Given the description of an element on the screen output the (x, y) to click on. 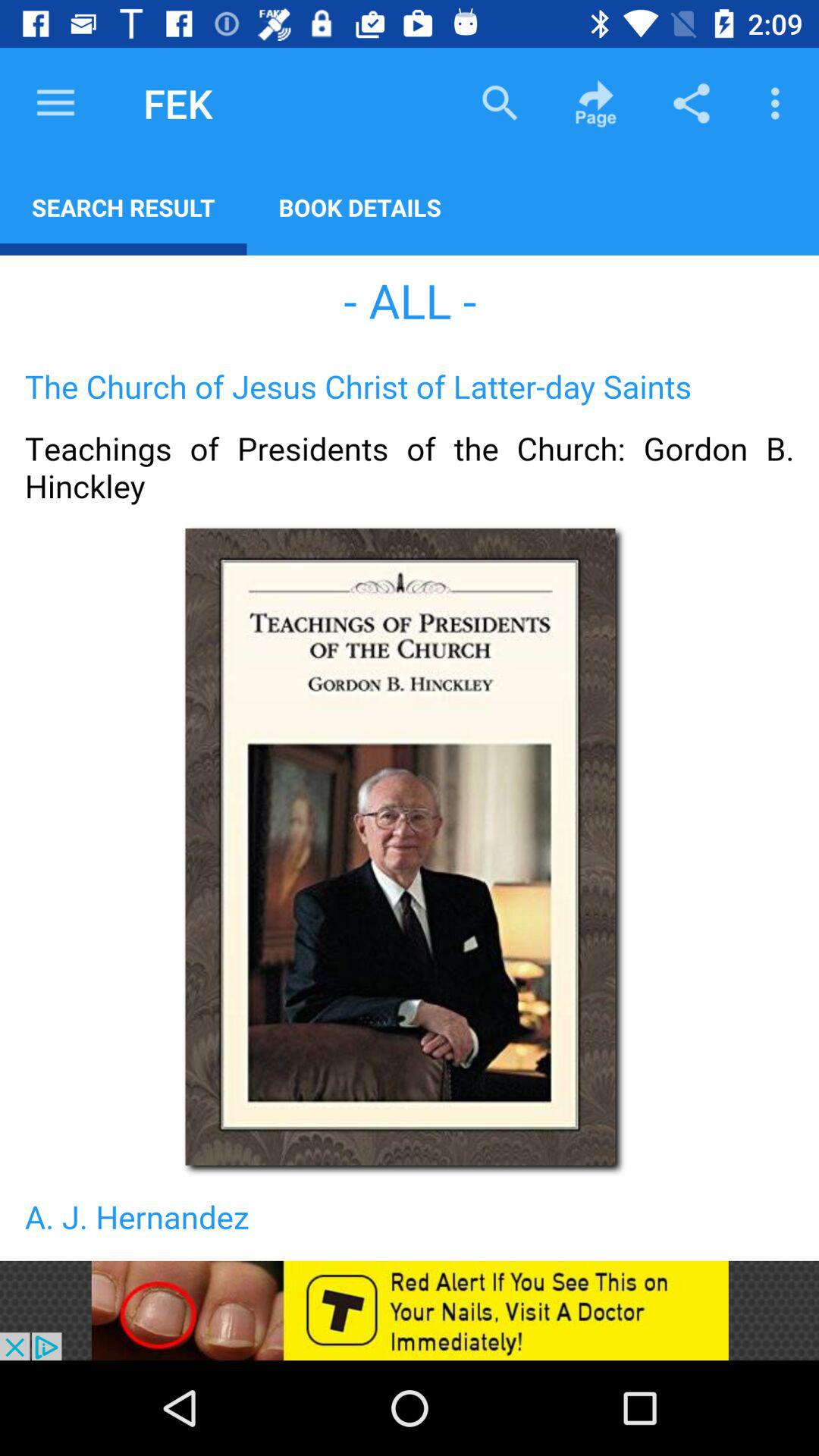
advertisement (409, 1310)
